Given the description of an element on the screen output the (x, y) to click on. 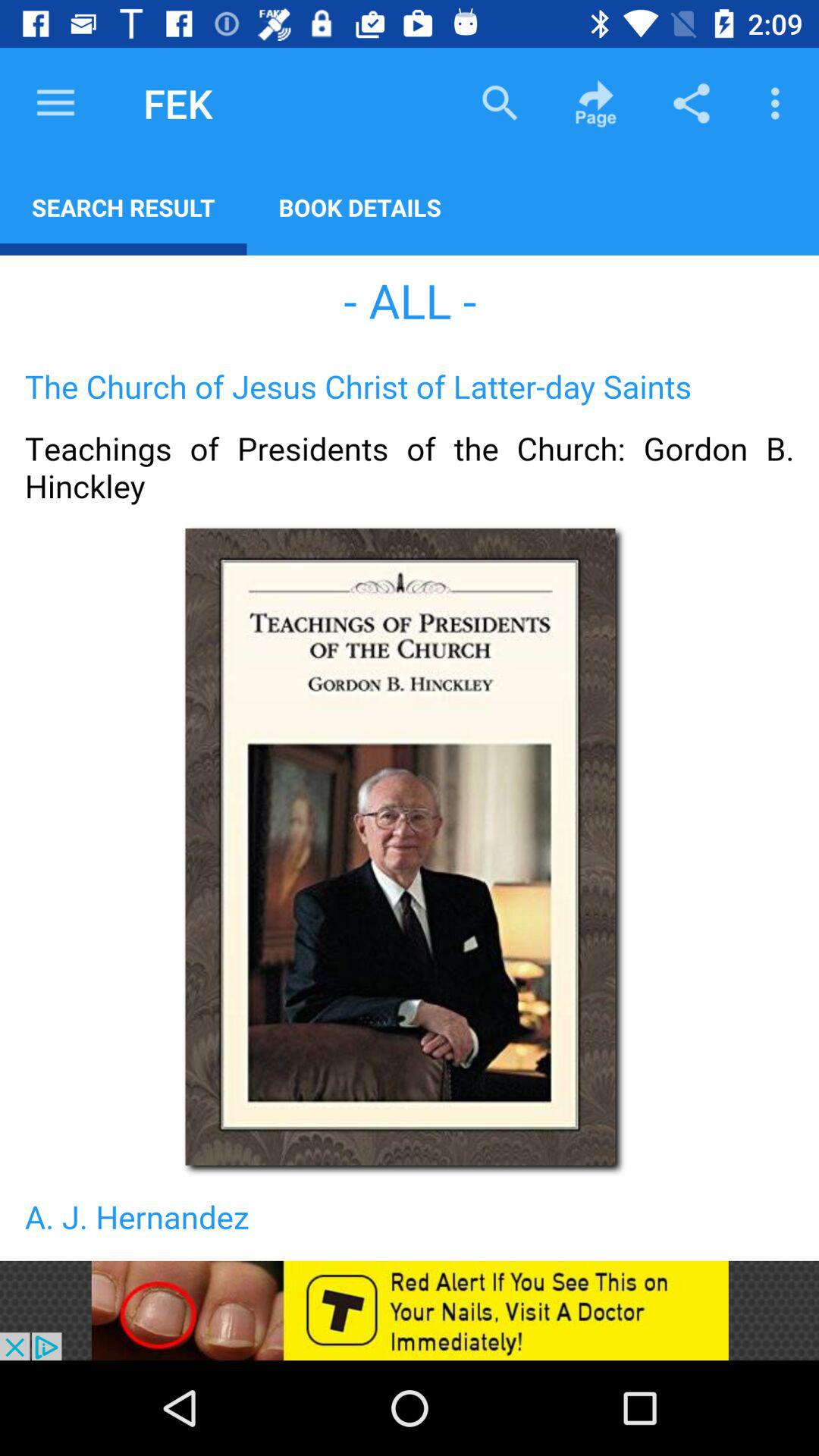
advertisement (409, 1310)
